Given the description of an element on the screen output the (x, y) to click on. 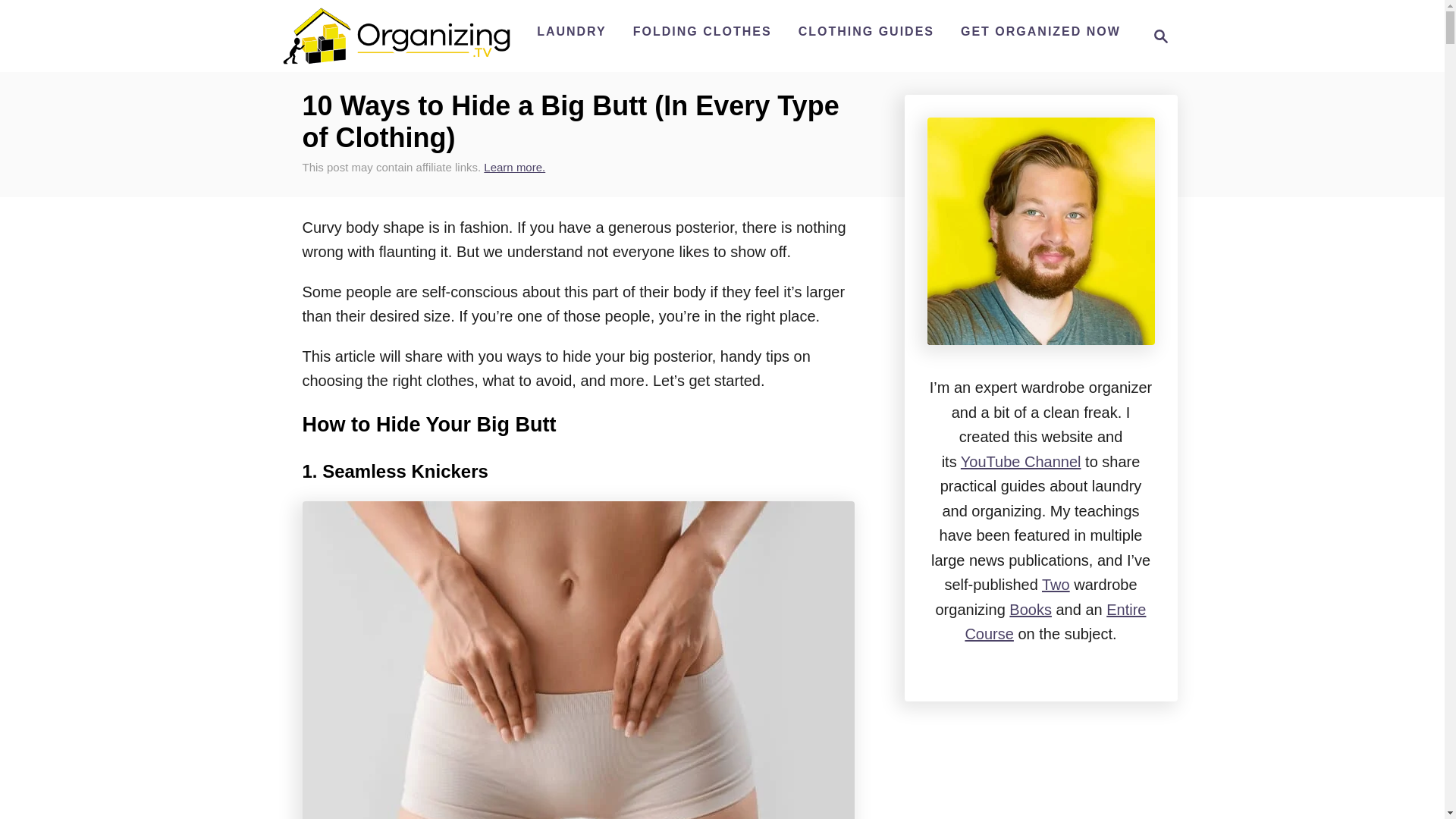
FOLDING CLOTHES (702, 31)
GET ORGANIZED NOW (1155, 36)
Learn more. (1040, 31)
LAUNDRY (513, 166)
Organizing.TV (571, 31)
Magnifying Glass (395, 35)
CLOTHING GUIDES (1160, 36)
